Given the description of an element on the screen output the (x, y) to click on. 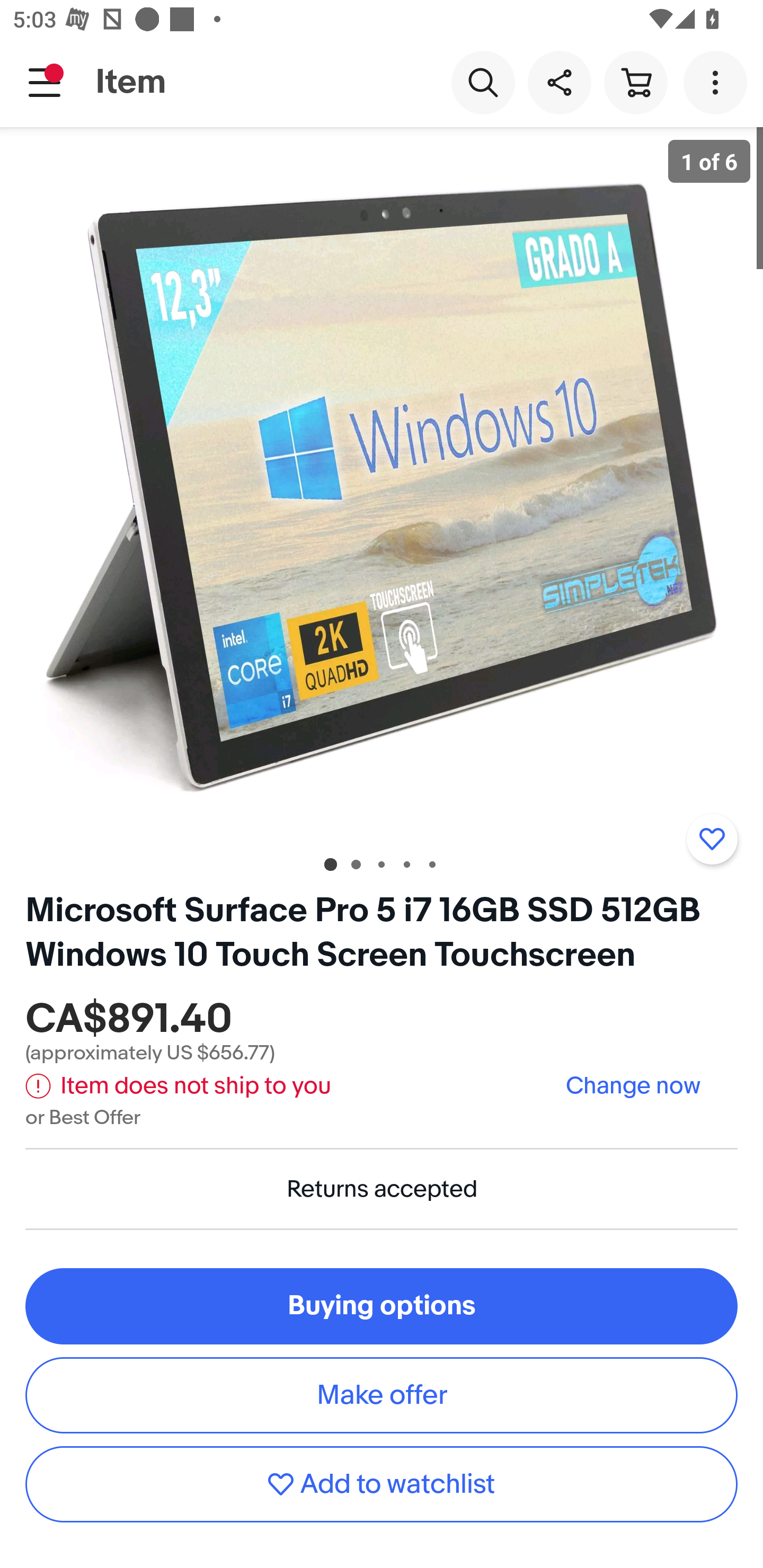
Main navigation, notification is pending, open (44, 82)
Search (482, 81)
Share this item (559, 81)
Cart button shopping cart (635, 81)
More options (718, 81)
Item image 1 of 6 (381, 482)
Add to watchlist (711, 838)
Buying options (381, 1305)
Make offer (381, 1395)
Add to watchlist (381, 1483)
